Given the description of an element on the screen output the (x, y) to click on. 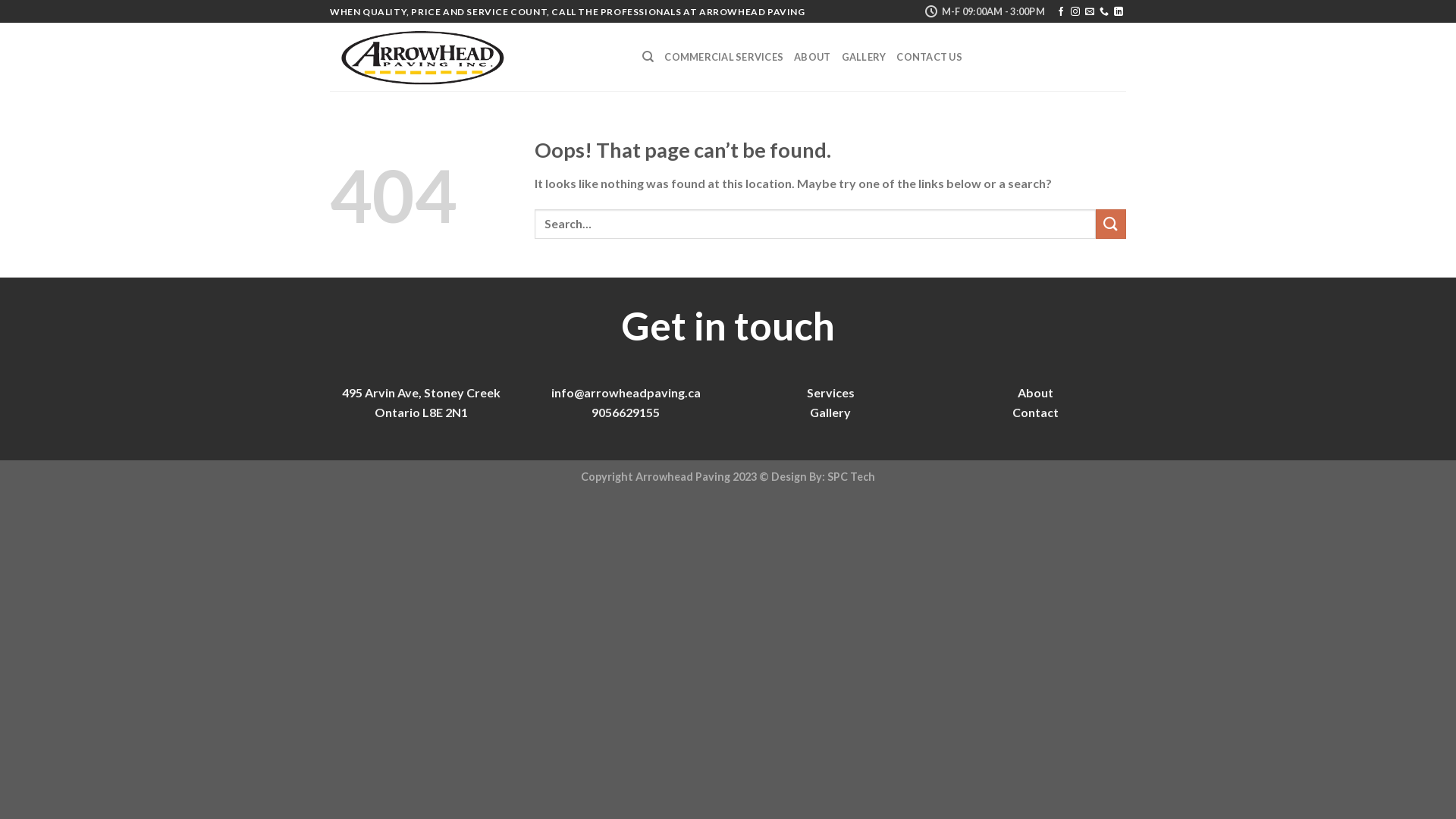
Follow on LinkedIn Element type: hover (1118, 11)
Call us Element type: hover (1103, 11)
Follow on Facebook Element type: hover (1060, 11)
info@arrowheadpaving.ca Element type: text (624, 392)
Follow on Instagram Element type: hover (1074, 11)
Send us an email Element type: hover (1089, 11)
9056629155 Element type: text (625, 411)
CONTACT US Element type: text (929, 56)
Gallery Element type: text (829, 411)
ABOUT Element type: text (811, 56)
Arrowhead Paving - Arrowhead Paving Element type: hover (474, 56)
Contact Element type: text (1034, 411)
M-F 09:00AM - 3:00PM Element type: text (984, 11)
COMMERCIAL SERVICES Element type: text (723, 56)
About Element type: text (1035, 392)
Services Element type: text (830, 392)
GALLERY Element type: text (863, 56)
